Given the description of an element on the screen output the (x, y) to click on. 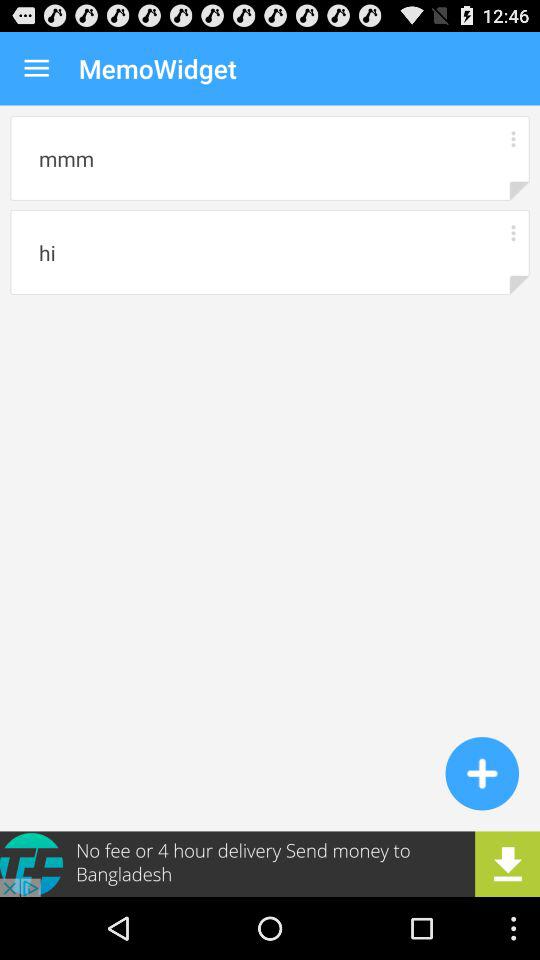
more details (512, 138)
